Given the description of an element on the screen output the (x, y) to click on. 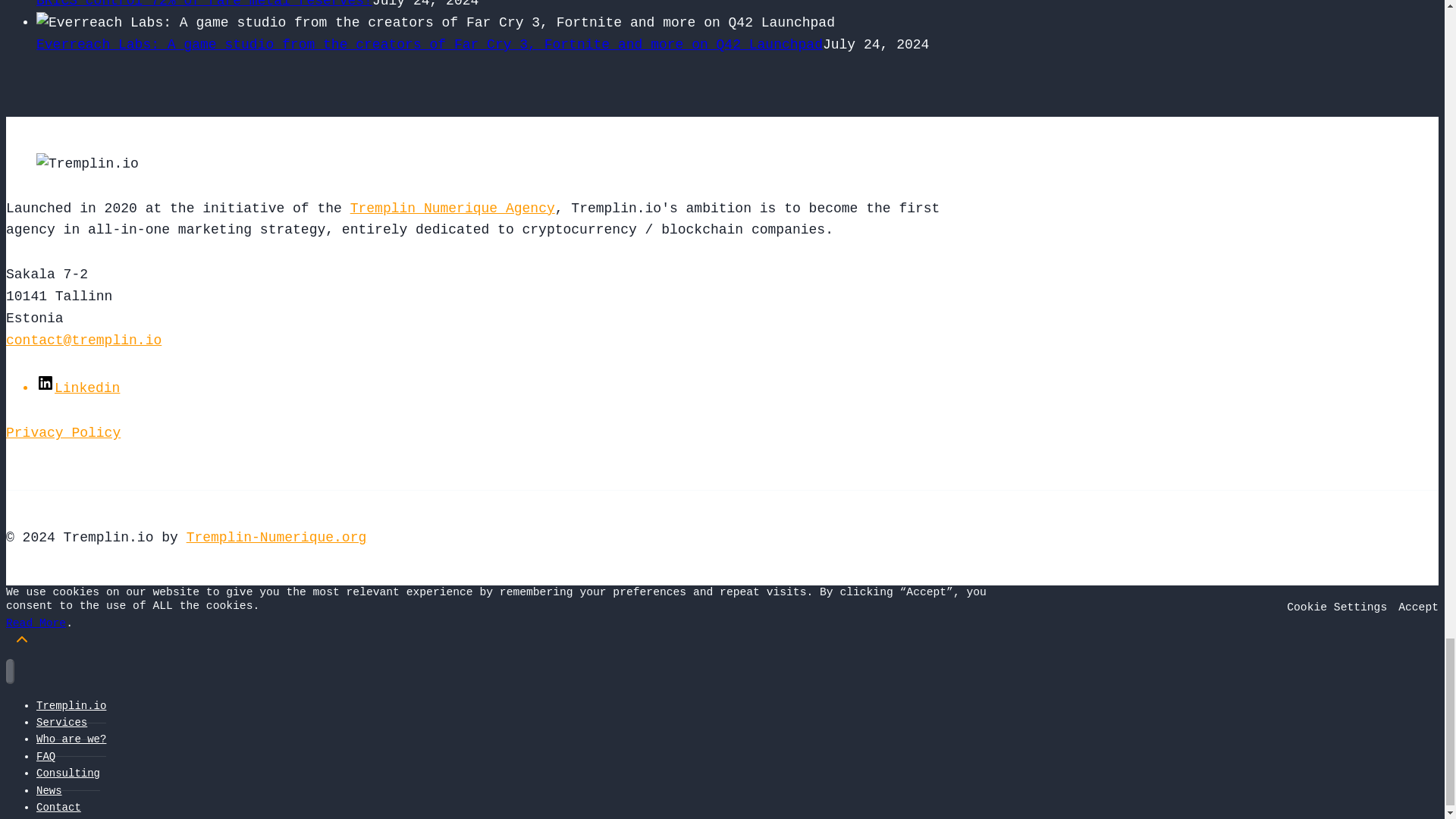
Cookie Settings (1337, 607)
Linkedin (77, 387)
Scroll to top (21, 638)
Read More (35, 622)
Privacy Policy (62, 432)
Scroll to top (21, 643)
Tremplin Numerique Agency (452, 208)
Tremplin-Numerique.org (276, 537)
